Given the description of an element on the screen output the (x, y) to click on. 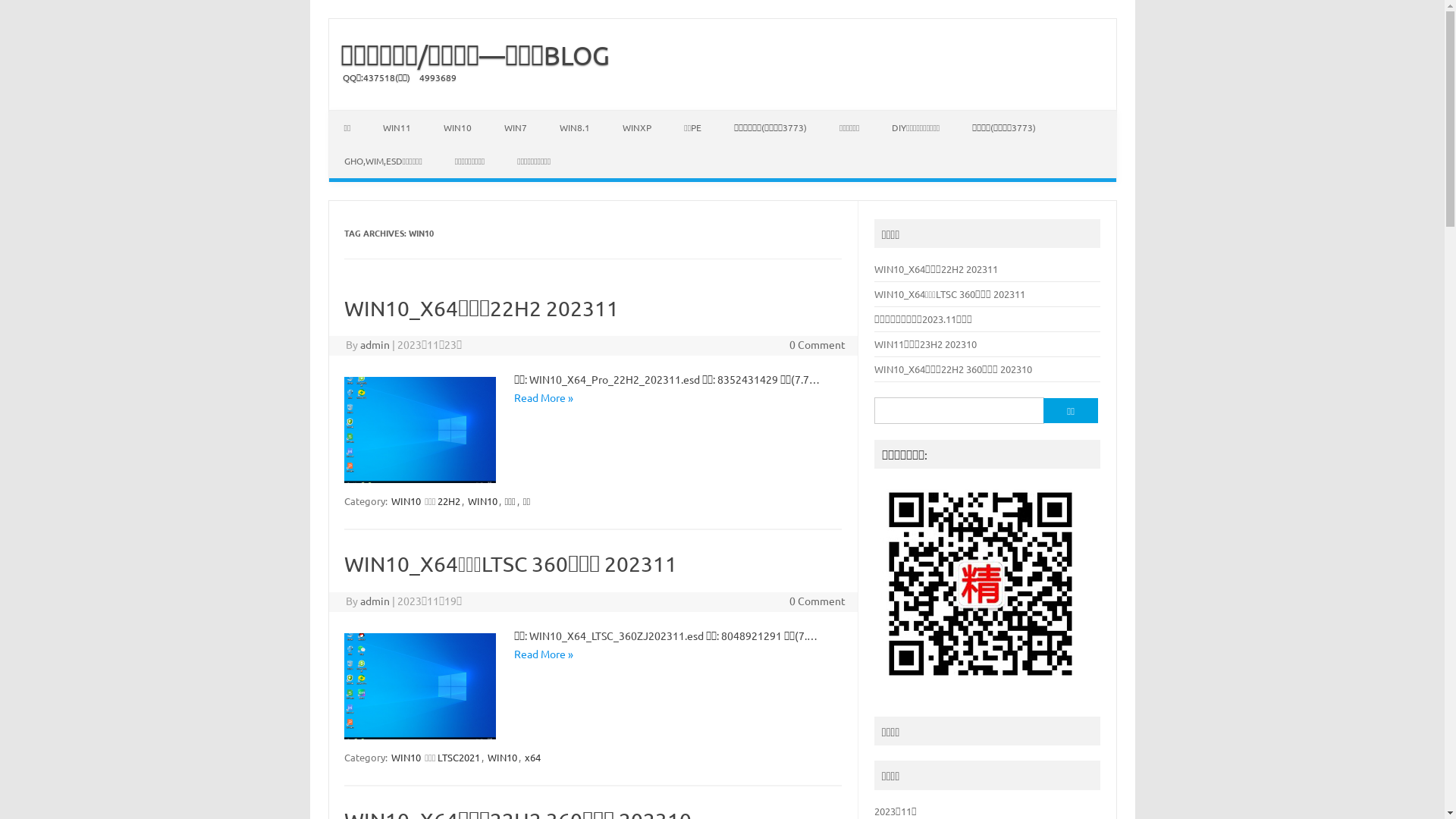
0 Comment Element type: text (817, 344)
0 Comment Element type: text (817, 600)
WIN10 Element type: text (501, 757)
WIN10 Element type: text (457, 127)
WIN10 Element type: text (405, 500)
LTSC2021 Element type: text (457, 757)
x64 Element type: text (532, 757)
WIN8.1 Element type: text (574, 127)
22H2 Element type: text (448, 500)
admin Element type: text (374, 600)
WIN11 Element type: text (396, 127)
WIN10 Element type: text (405, 757)
WINXP Element type: text (636, 127)
admin Element type: text (374, 344)
WIN10 Element type: text (481, 500)
WIN7 Element type: text (515, 127)
Skip to content Element type: text (365, 114)
